Given the description of an element on the screen output the (x, y) to click on. 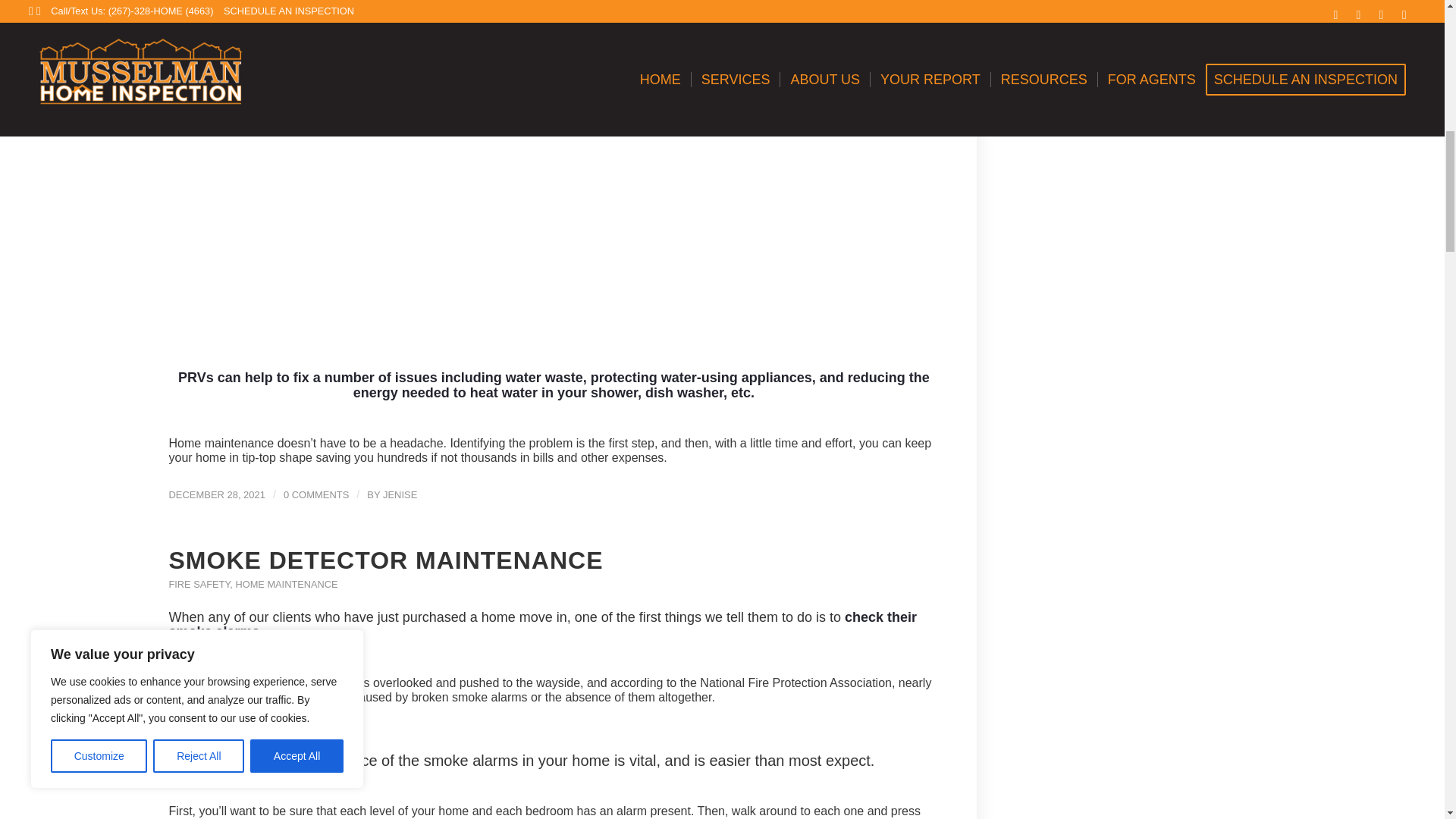
Posts by Jenise (399, 494)
Permanent Link: Smoke Detector Maintenance (385, 560)
